Given the description of an element on the screen output the (x, y) to click on. 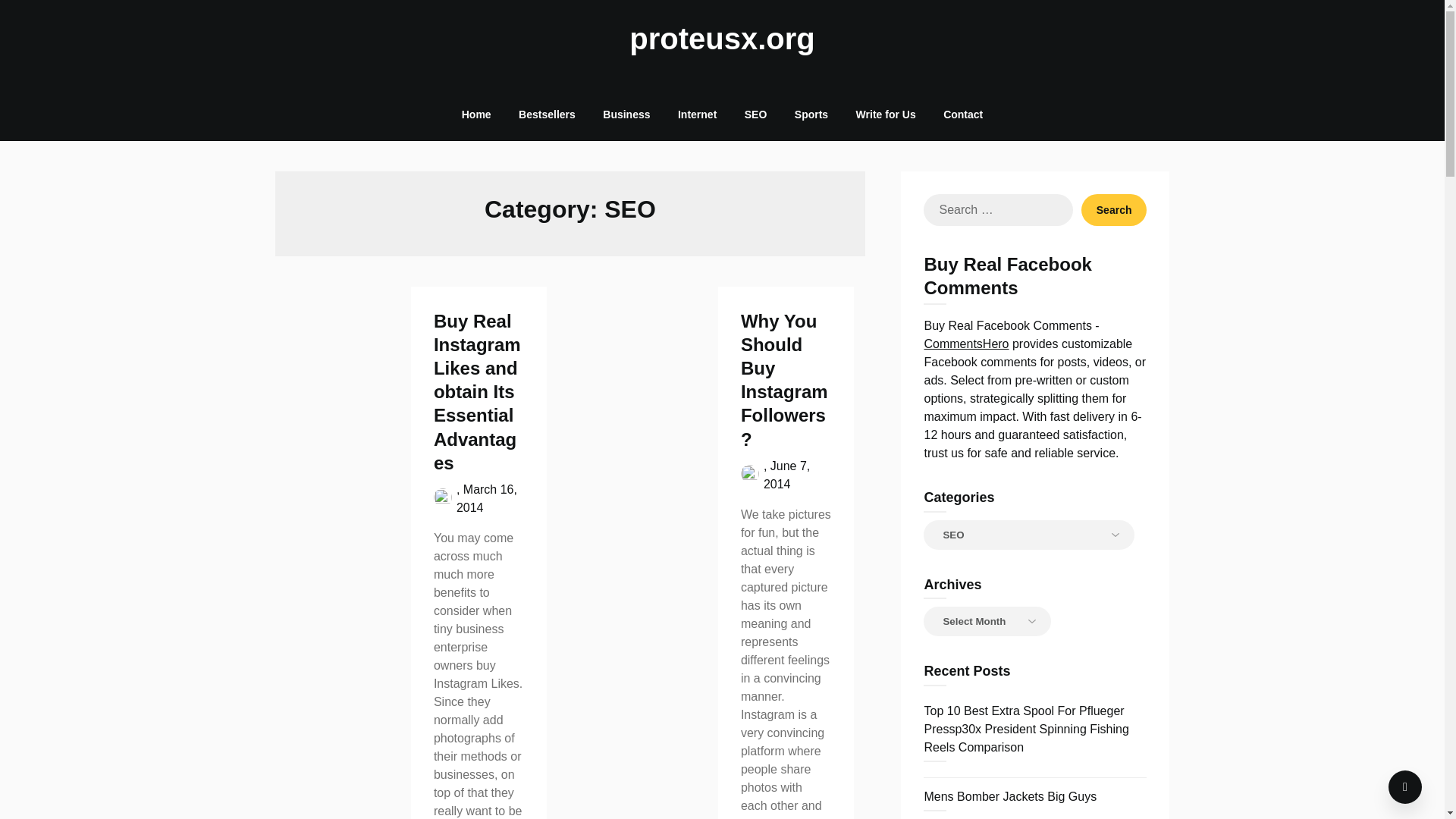
Sports (811, 114)
Contact (962, 114)
Search (1114, 210)
Home (476, 114)
Search (1114, 210)
To Top (1405, 786)
Internet (697, 114)
March 16, 2014 (486, 498)
Business (626, 114)
Bestsellers (547, 114)
